Given the description of an element on the screen output the (x, y) to click on. 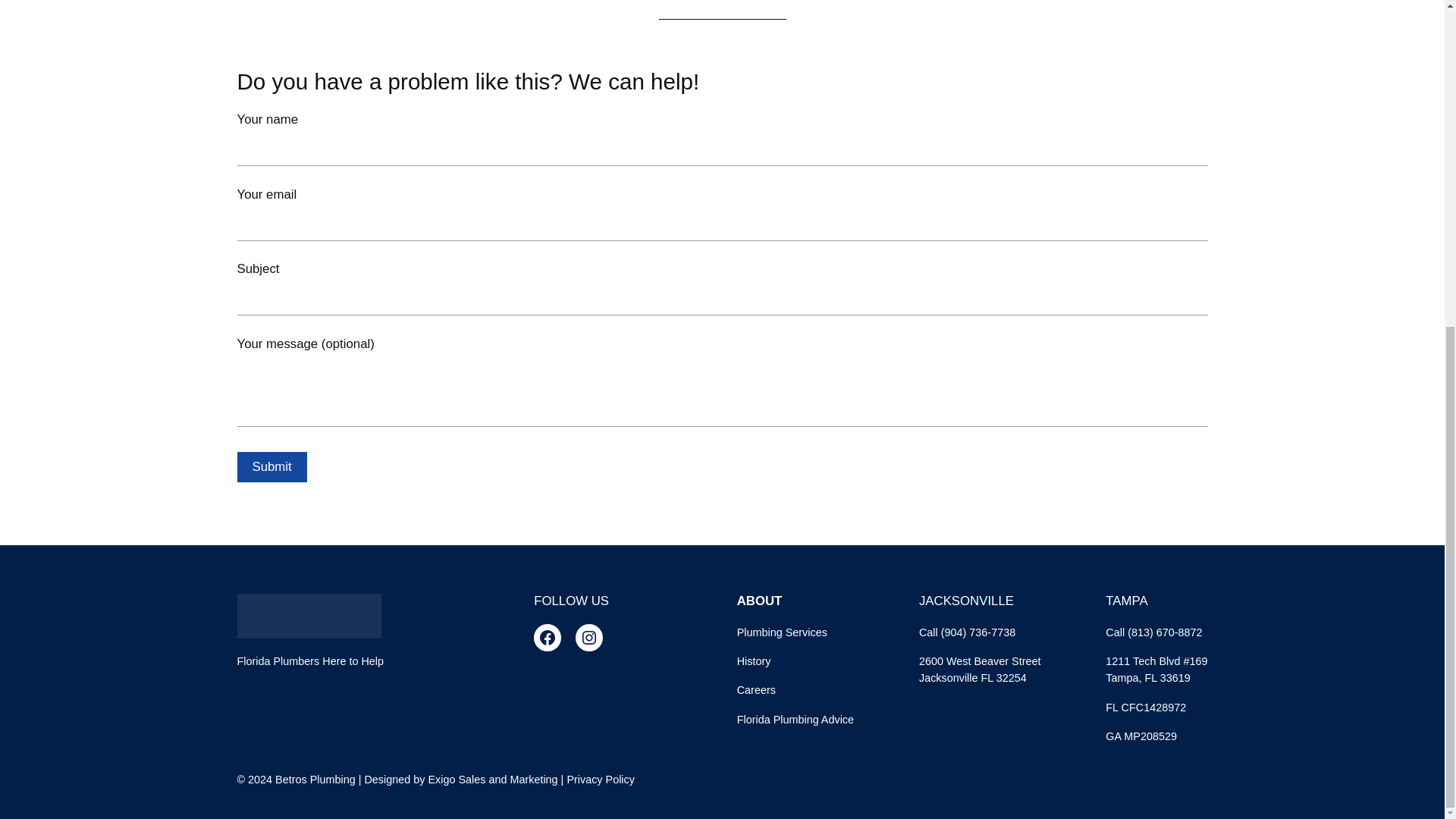
Florida Plumbing Advice (794, 719)
Facebook (547, 637)
Privacy Policy (600, 779)
Designed by Exigo Sales and Marketing (460, 779)
Submit (270, 467)
Careers (756, 689)
Instagram (588, 637)
Submit (270, 467)
Plumbing Services (781, 632)
JACKSONVILLE (965, 600)
